Given the description of an element on the screen output the (x, y) to click on. 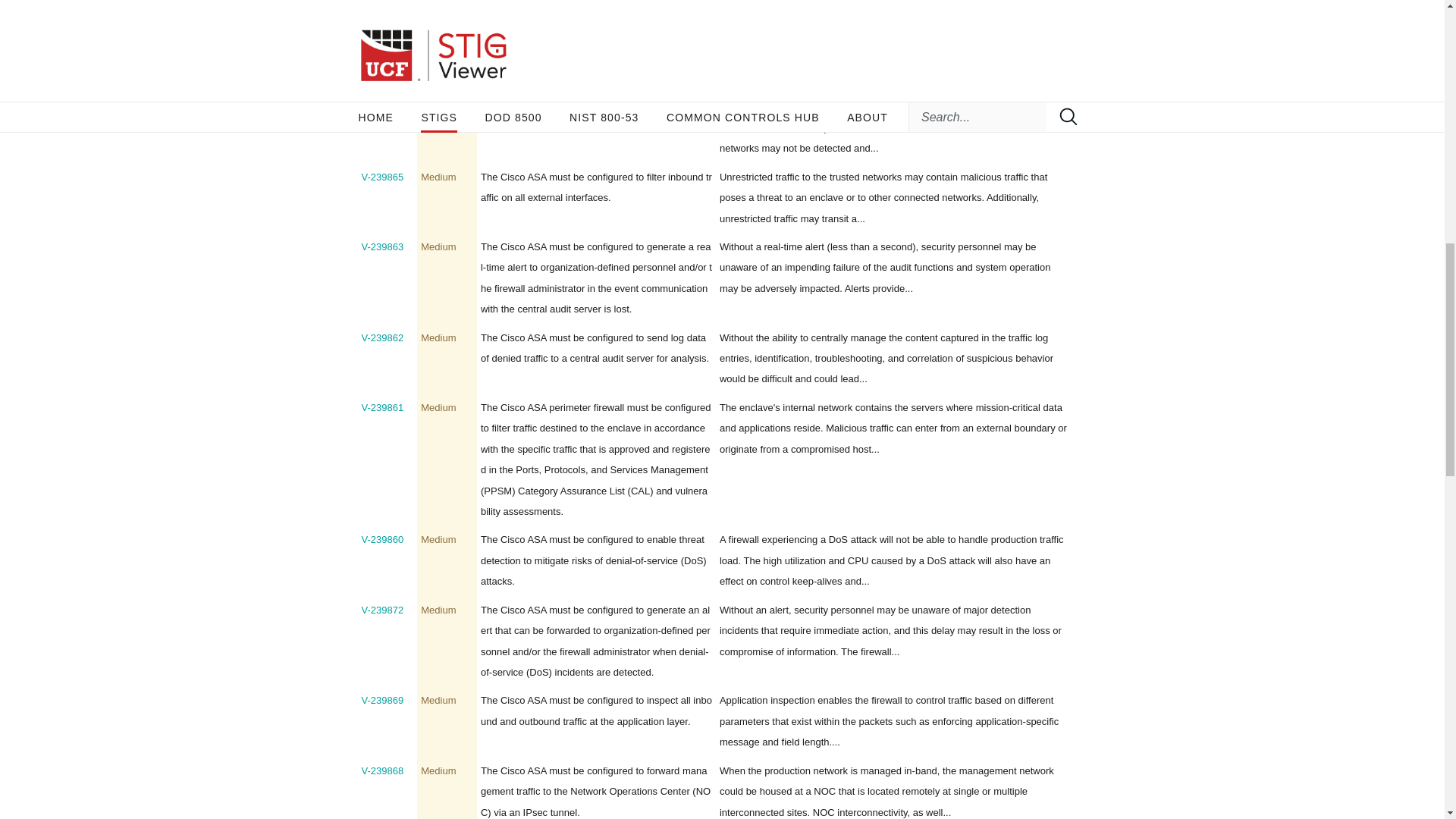
V-239860 (382, 539)
V-239863 (382, 246)
V-239861 (382, 407)
V-239869 (382, 699)
V-239872 (382, 609)
V-239862 (382, 337)
V-239866 (382, 106)
V-239865 (382, 176)
V-239867 (382, 36)
